Given the description of an element on the screen output the (x, y) to click on. 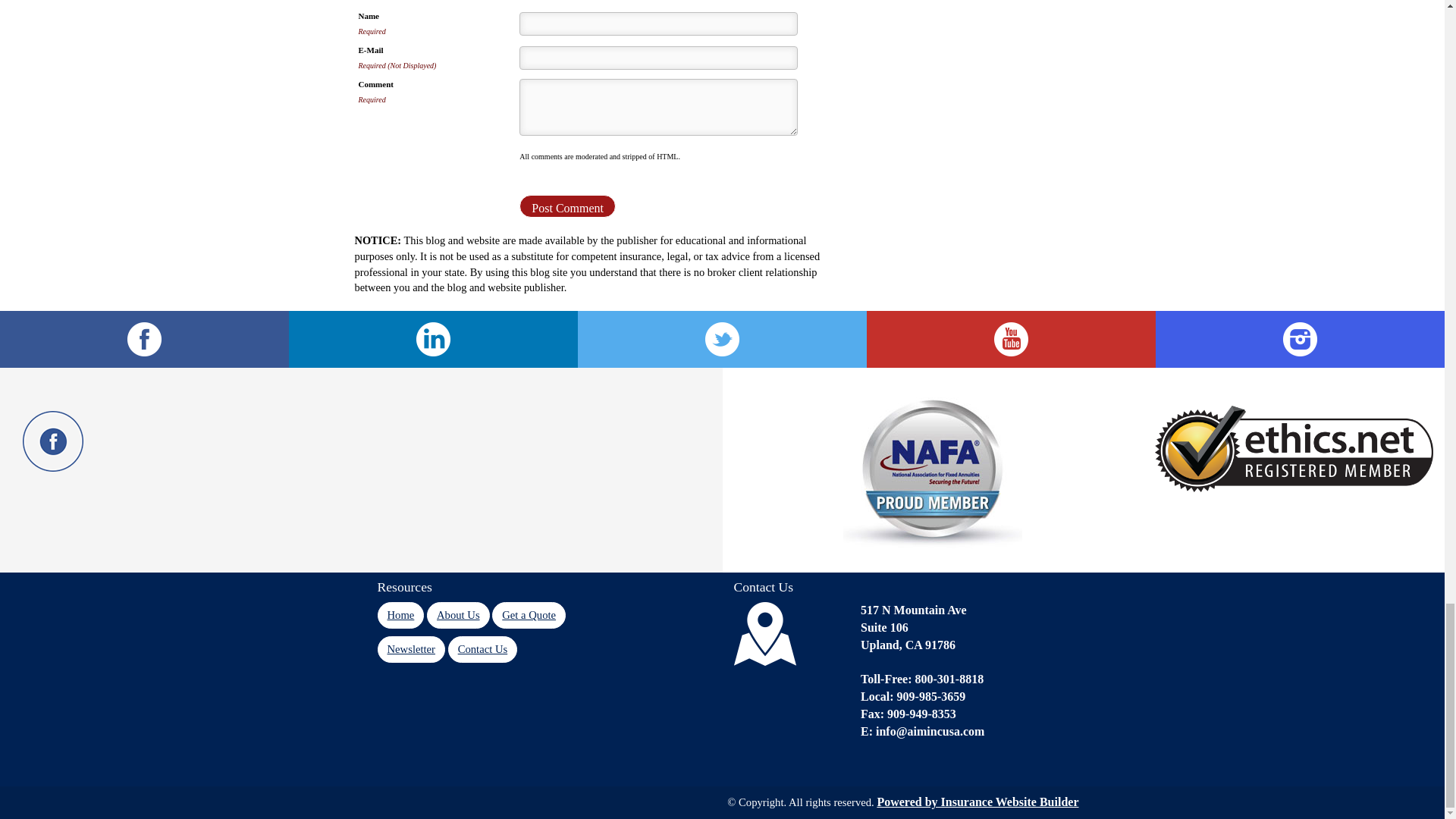
Post Comment (567, 205)
